Given the description of an element on the screen output the (x, y) to click on. 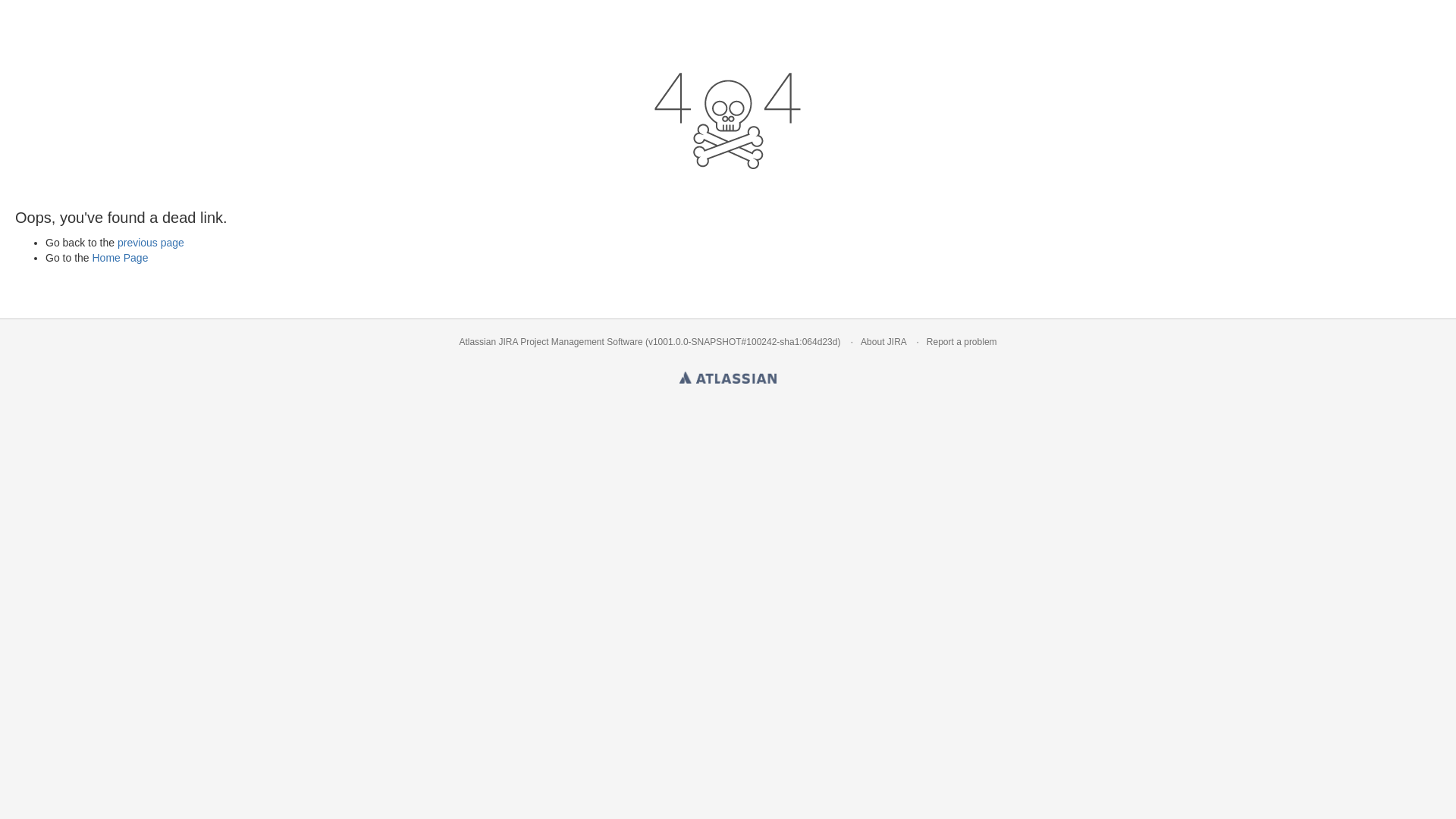
About JIRA Element type: text (883, 341)
previous page Element type: text (150, 242)
Project Management Software Element type: text (581, 341)
Report a problem Element type: text (961, 341)
Home Page Element type: text (119, 257)
Atlassian Element type: text (727, 374)
